Given the description of an element on the screen output the (x, y) to click on. 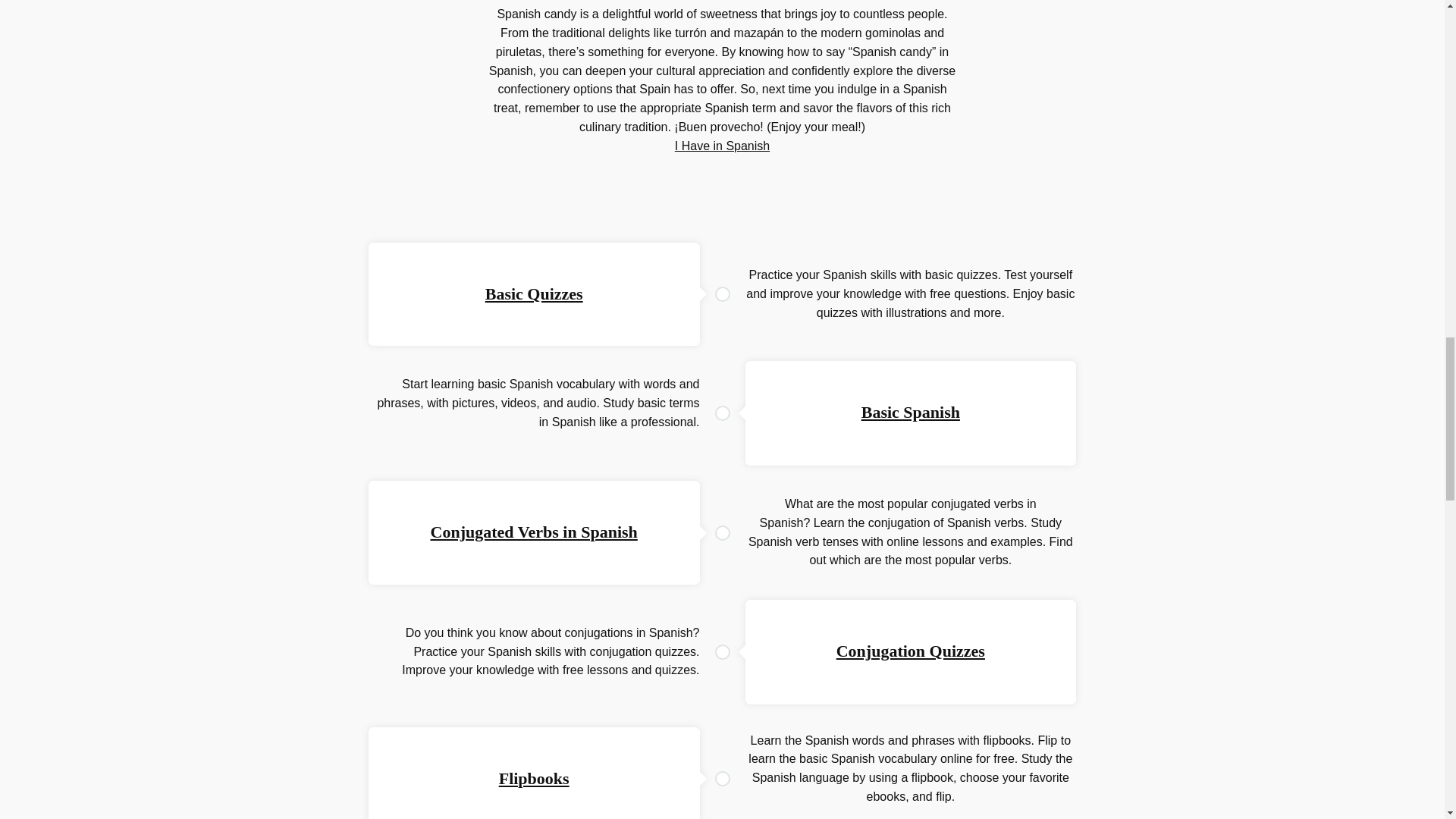
I Have in Spanish (722, 145)
Basic Spanish (910, 411)
Conjugated Verbs in Spanish (533, 531)
Basic Quizzes (533, 293)
Flipbooks (534, 778)
Conjugation Quizzes (910, 650)
